Given the description of an element on the screen output the (x, y) to click on. 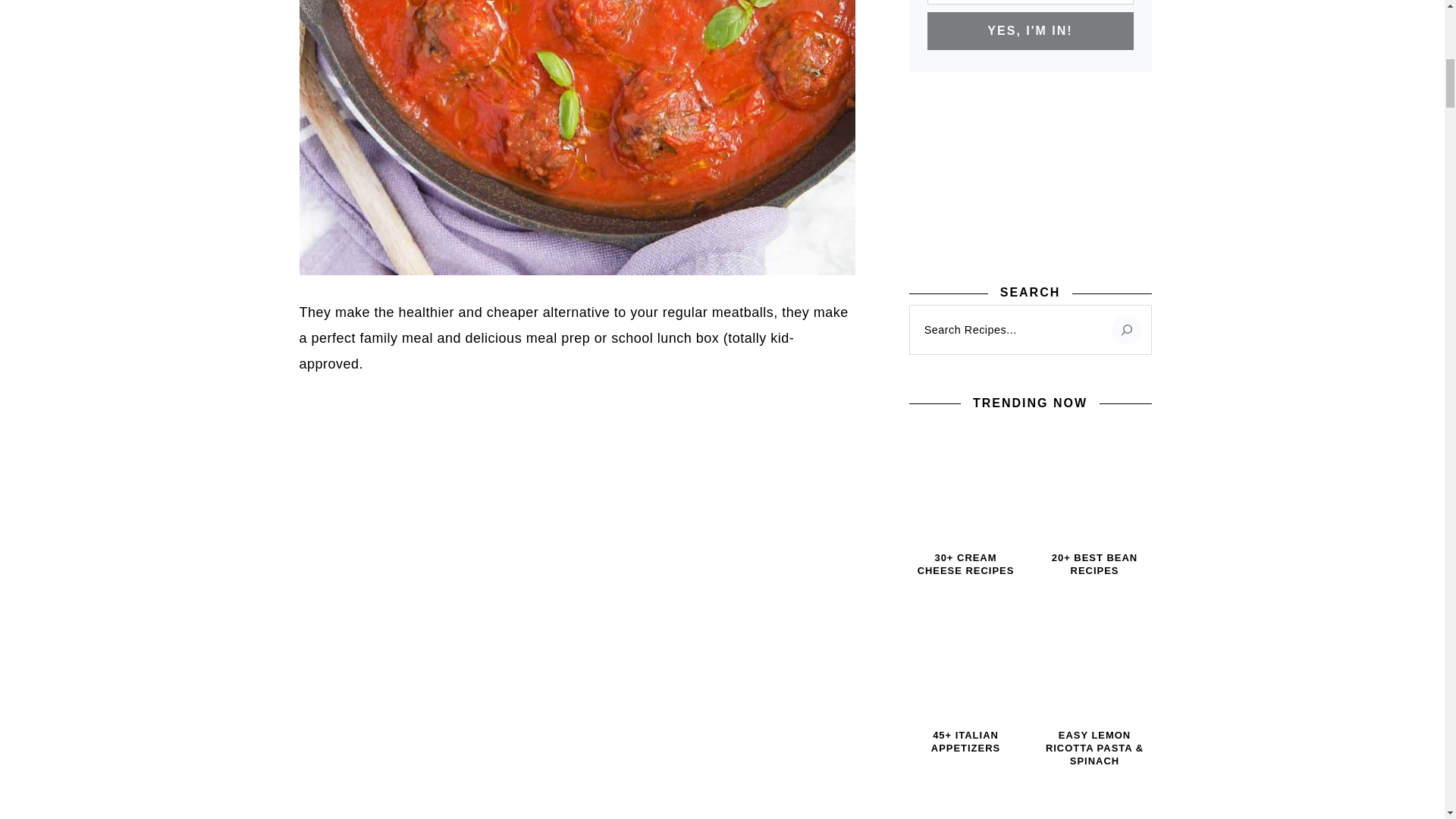
YES, I'M IN! (1029, 30)
